Given the description of an element on the screen output the (x, y) to click on. 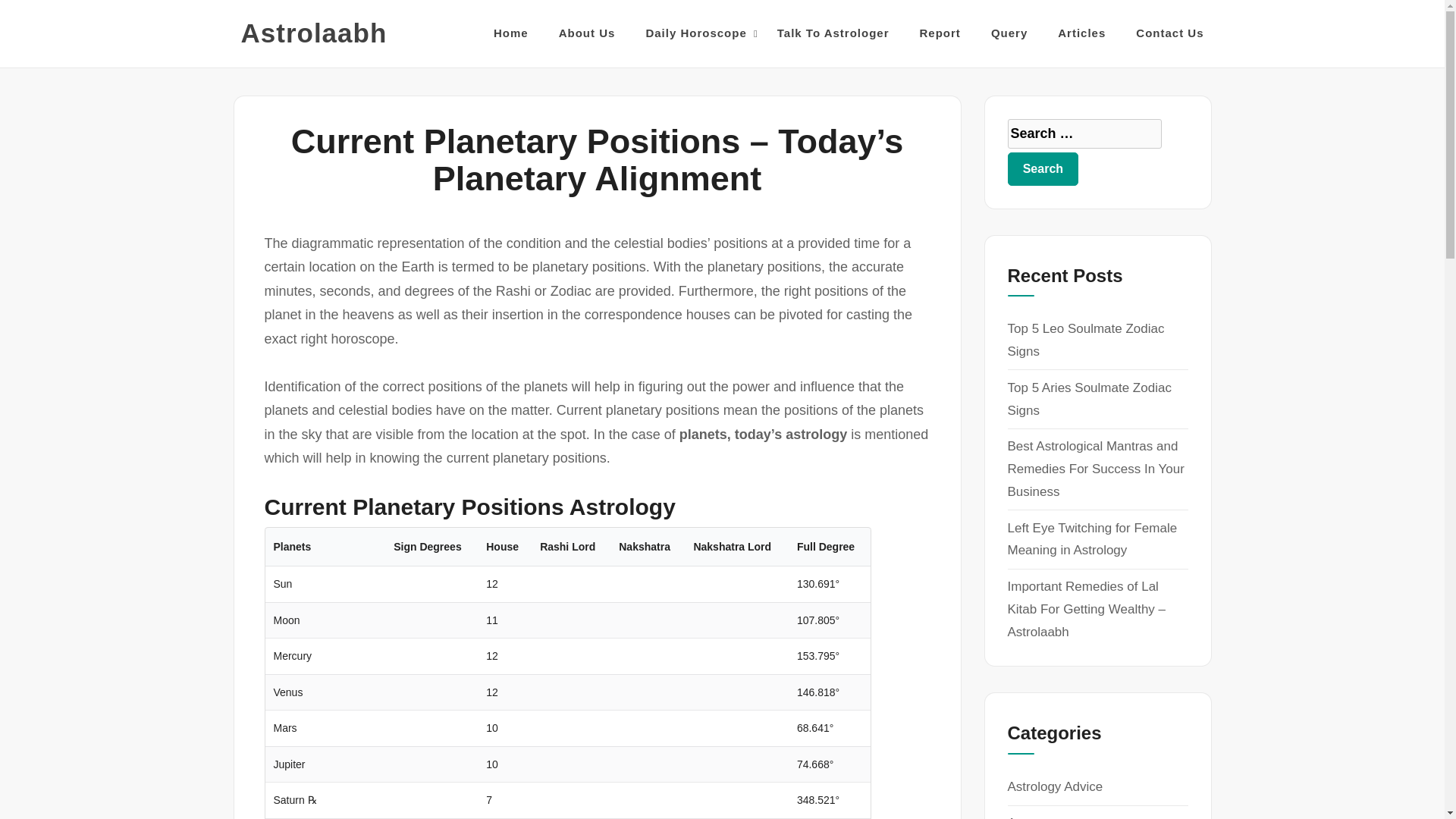
Search (1042, 168)
Awareness (1038, 817)
Articles (1081, 33)
Contact Us (1169, 33)
Talk To Astrologer (833, 33)
Query (1009, 33)
Search (1042, 168)
Home (510, 33)
Top 5 Aries Soulmate Zodiac Signs (1088, 398)
Daily Horoscope (695, 33)
Left Eye Twitching for Female Meaning in Astrology (1091, 538)
Astrolaabh (314, 33)
Top 5 Leo Soulmate Zodiac Signs (1085, 339)
Astrology Advice (1054, 786)
